Given the description of an element on the screen output the (x, y) to click on. 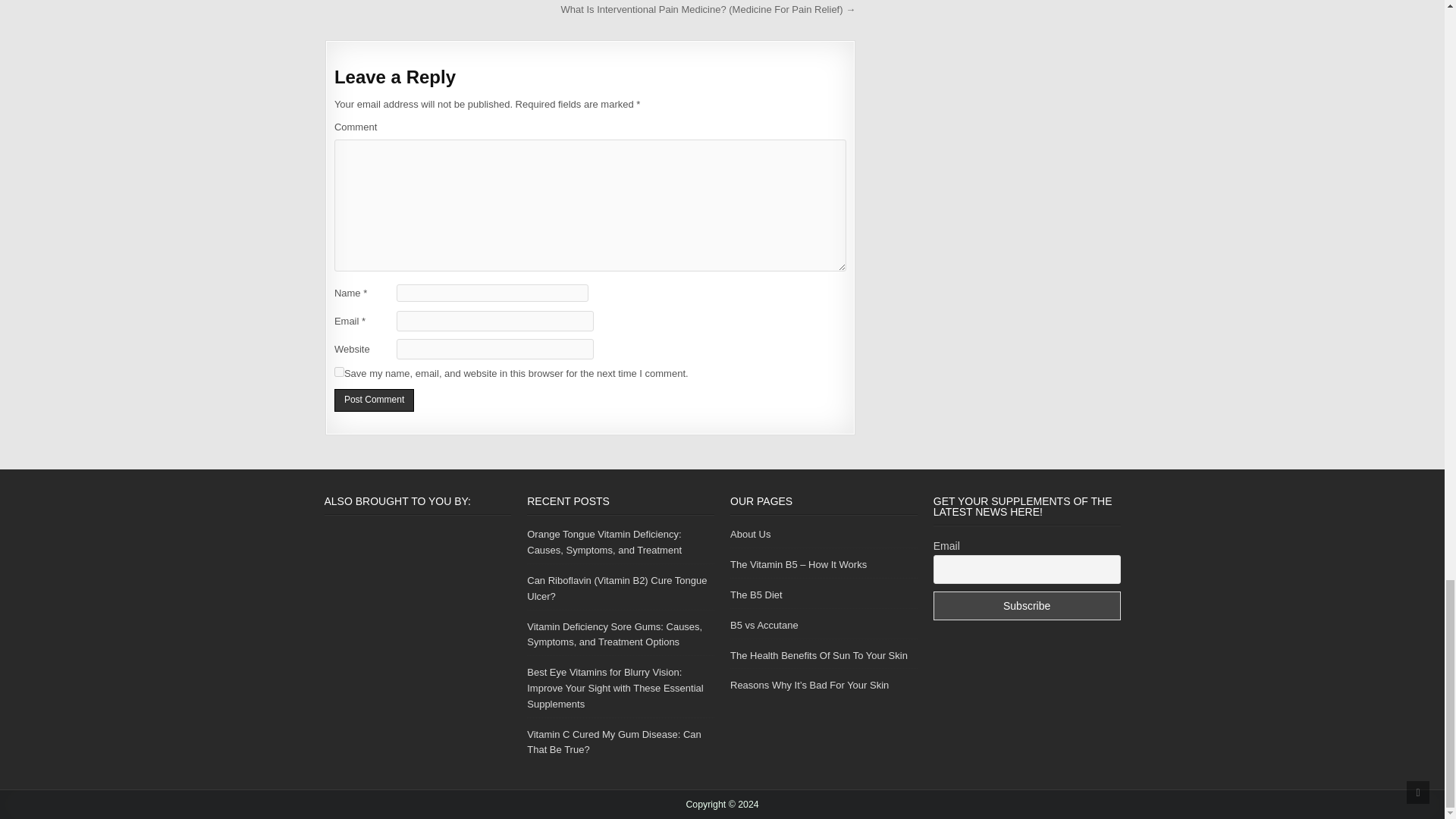
yes (338, 371)
Post Comment (373, 399)
Subscribe (1027, 605)
